Given the description of an element on the screen output the (x, y) to click on. 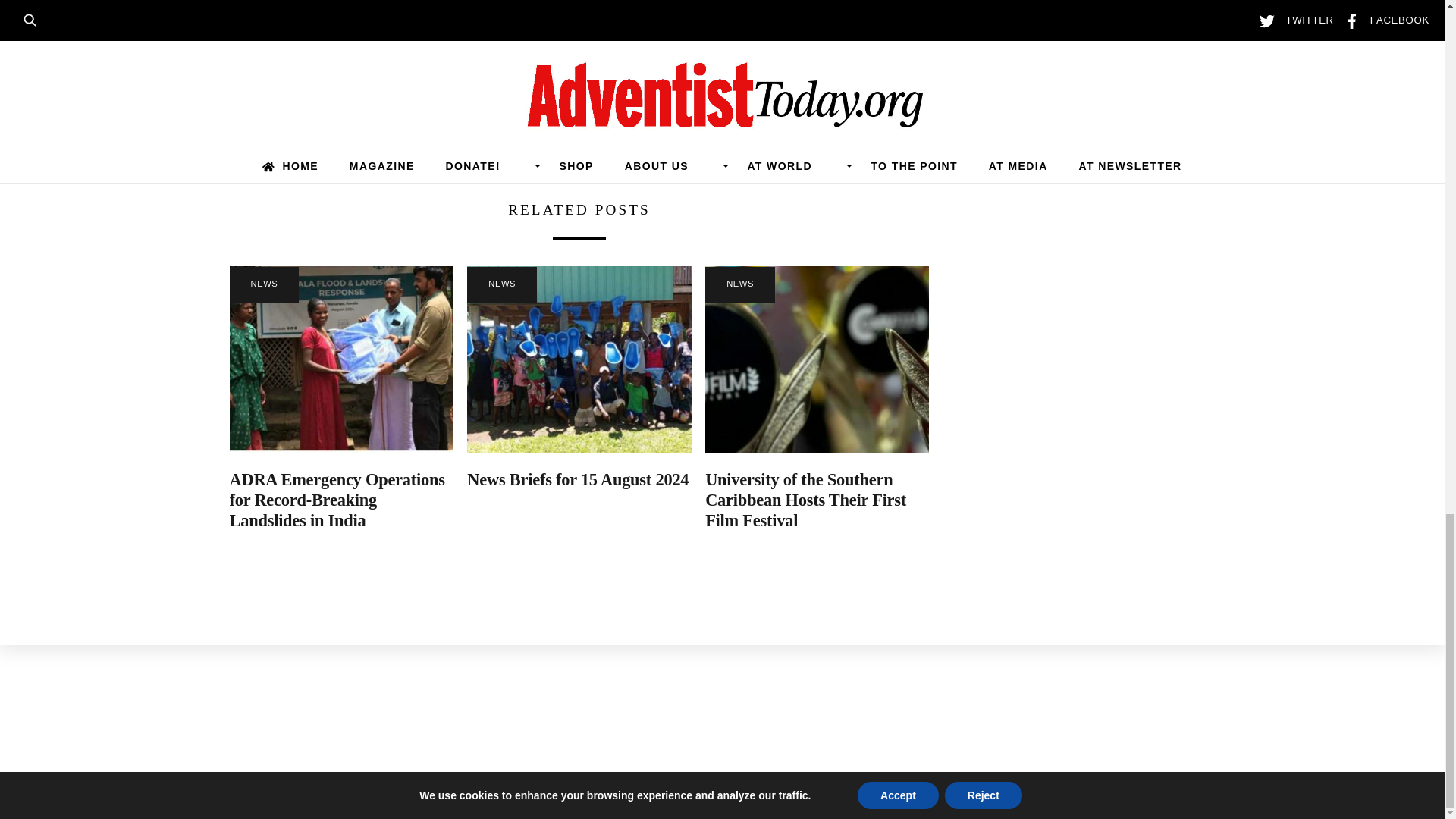
toilets2-600x0-c-default (578, 359)
The Perfect Adventist Couple? (764, 104)
NEWS (263, 284)
